Given the description of an element on the screen output the (x, y) to click on. 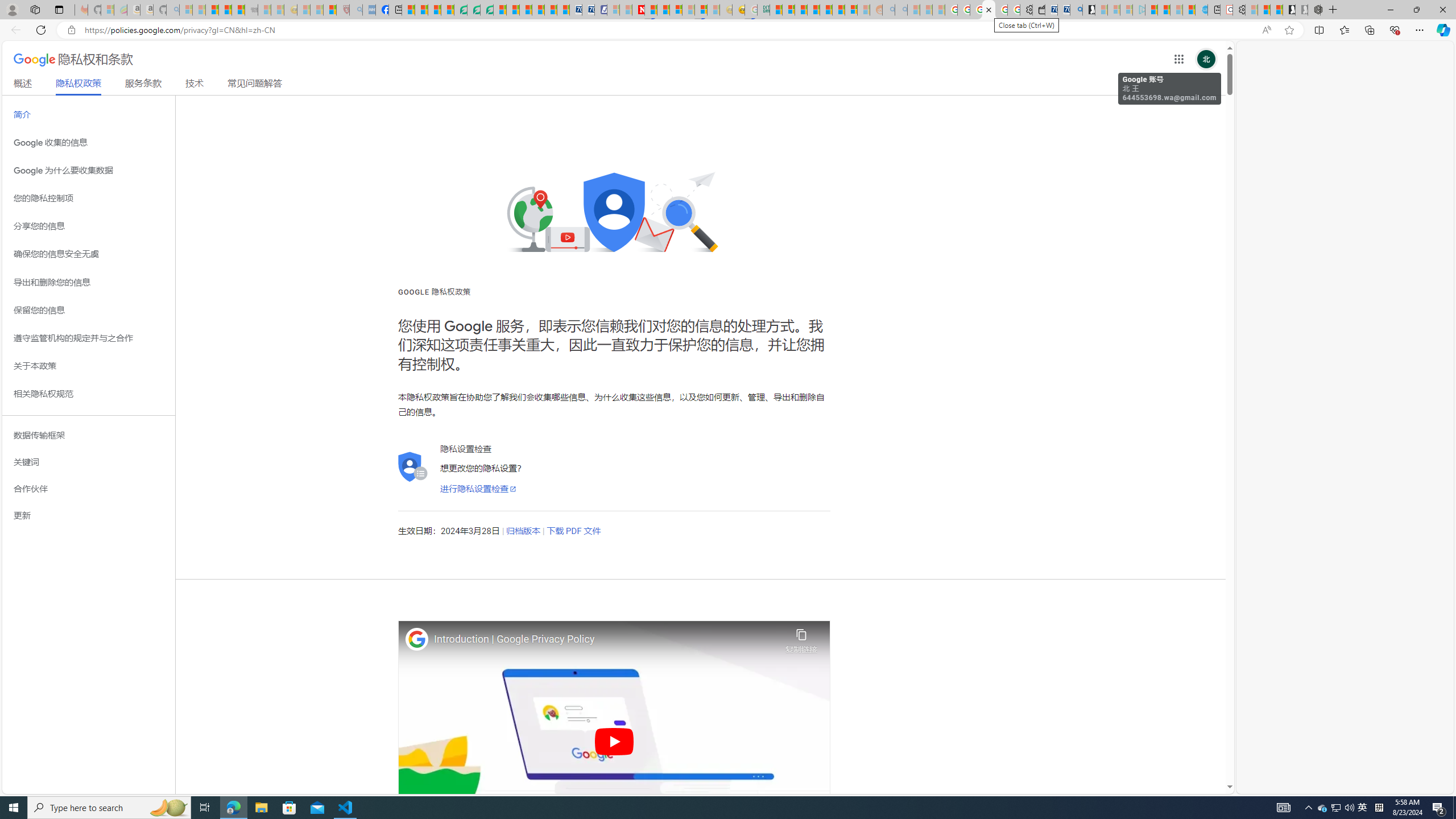
Wallet (1038, 9)
New Report Confirms 2023 Was Record Hot | Watch (237, 9)
